Given the description of an element on the screen output the (x, y) to click on. 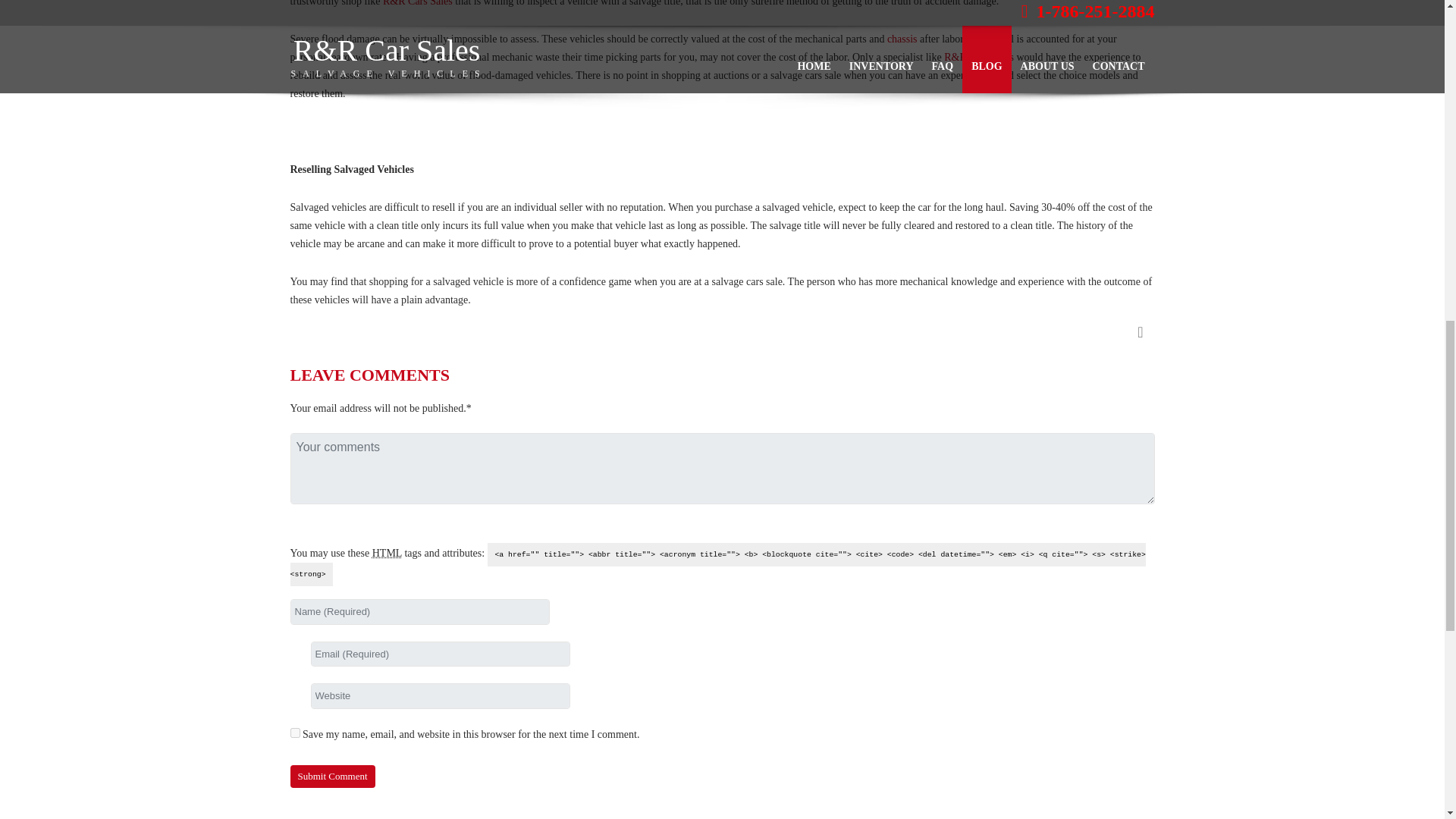
yes (294, 732)
chassis (901, 39)
Submit Comment (331, 775)
Submit Comment (331, 775)
HyperText Markup Language (386, 552)
